Given the description of an element on the screen output the (x, y) to click on. 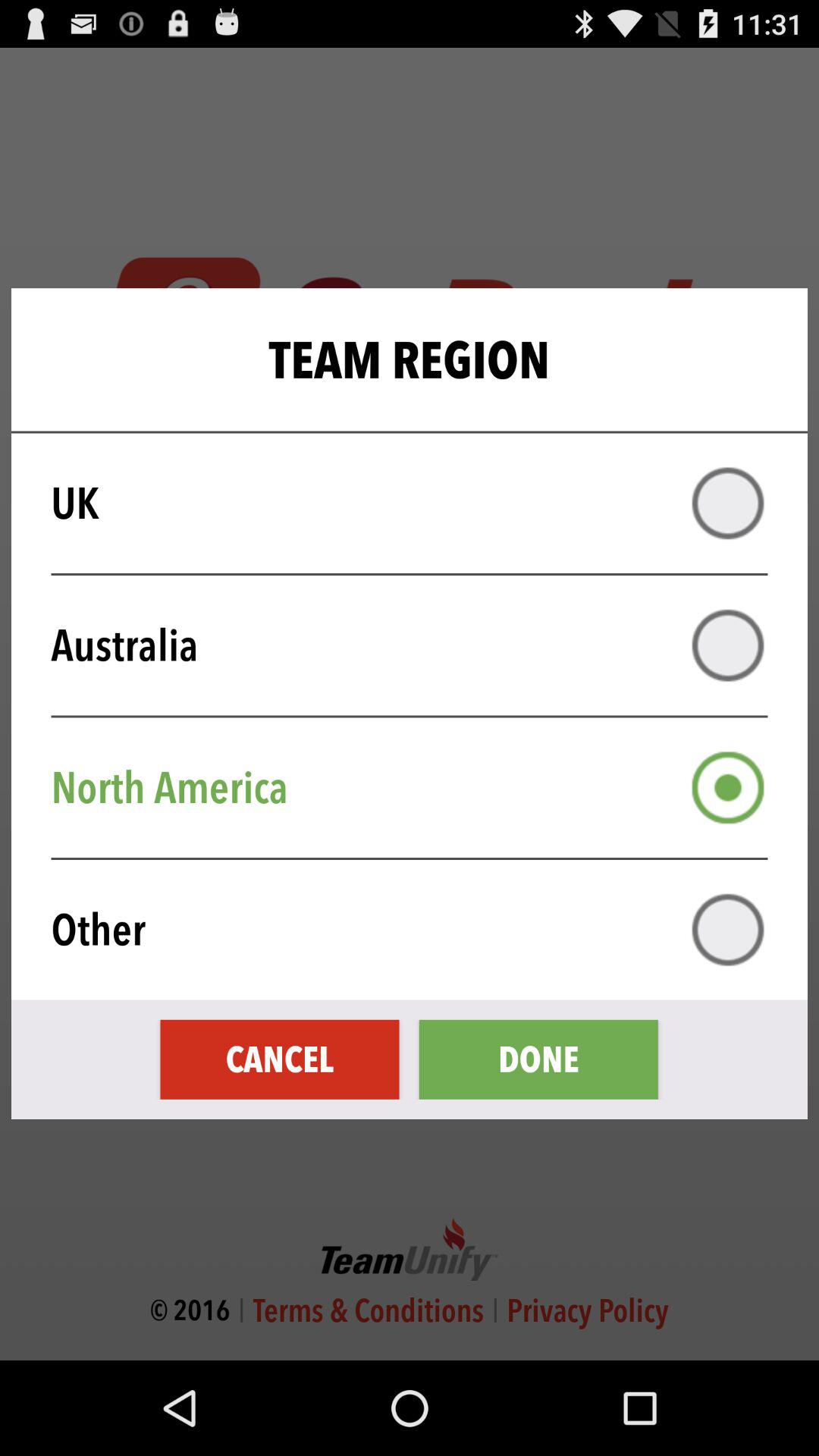
select icon to the left of the done item (279, 1059)
